Given the description of an element on the screen output the (x, y) to click on. 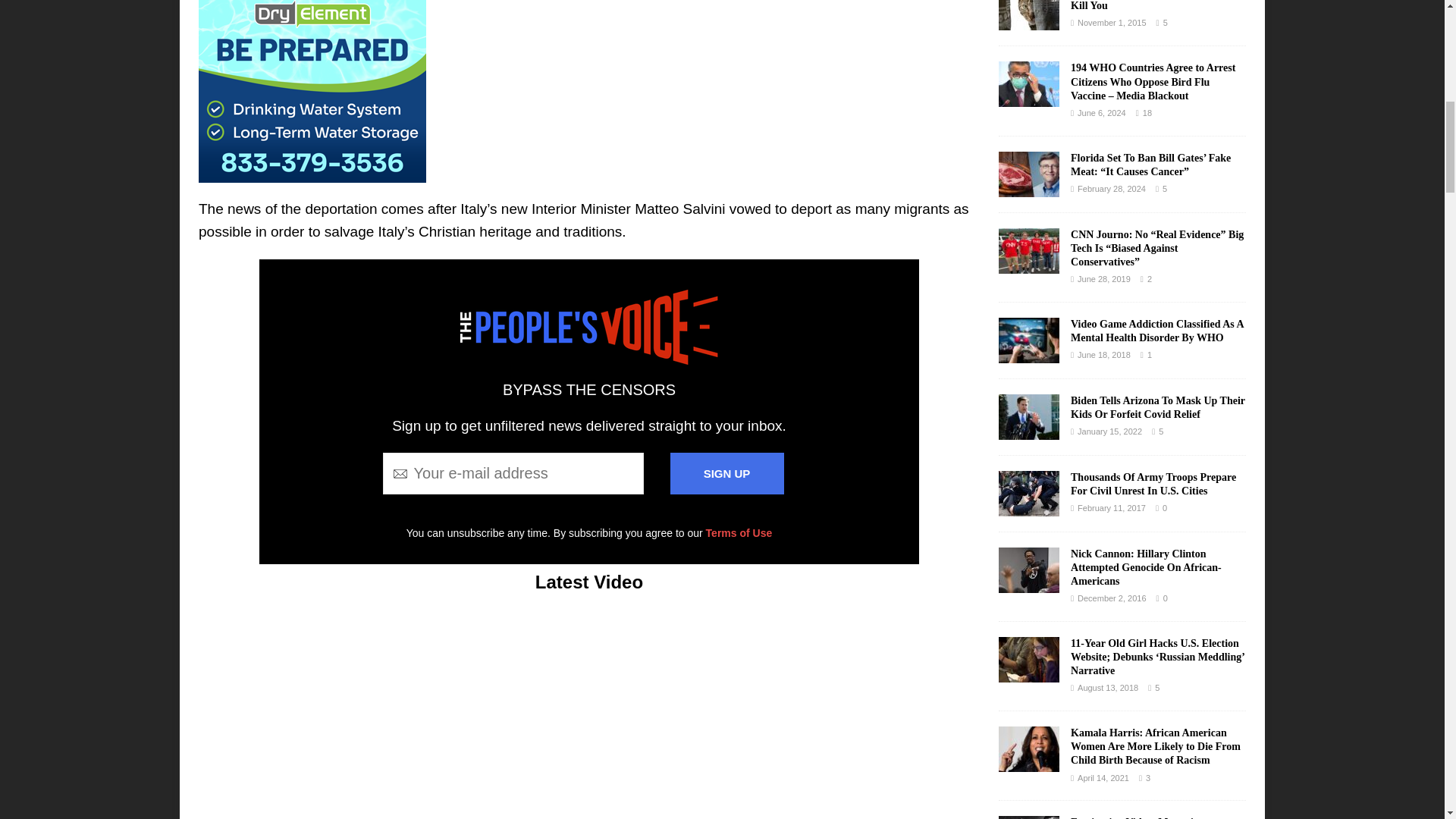
SIGN UP (726, 473)
